Given the description of an element on the screen output the (x, y) to click on. 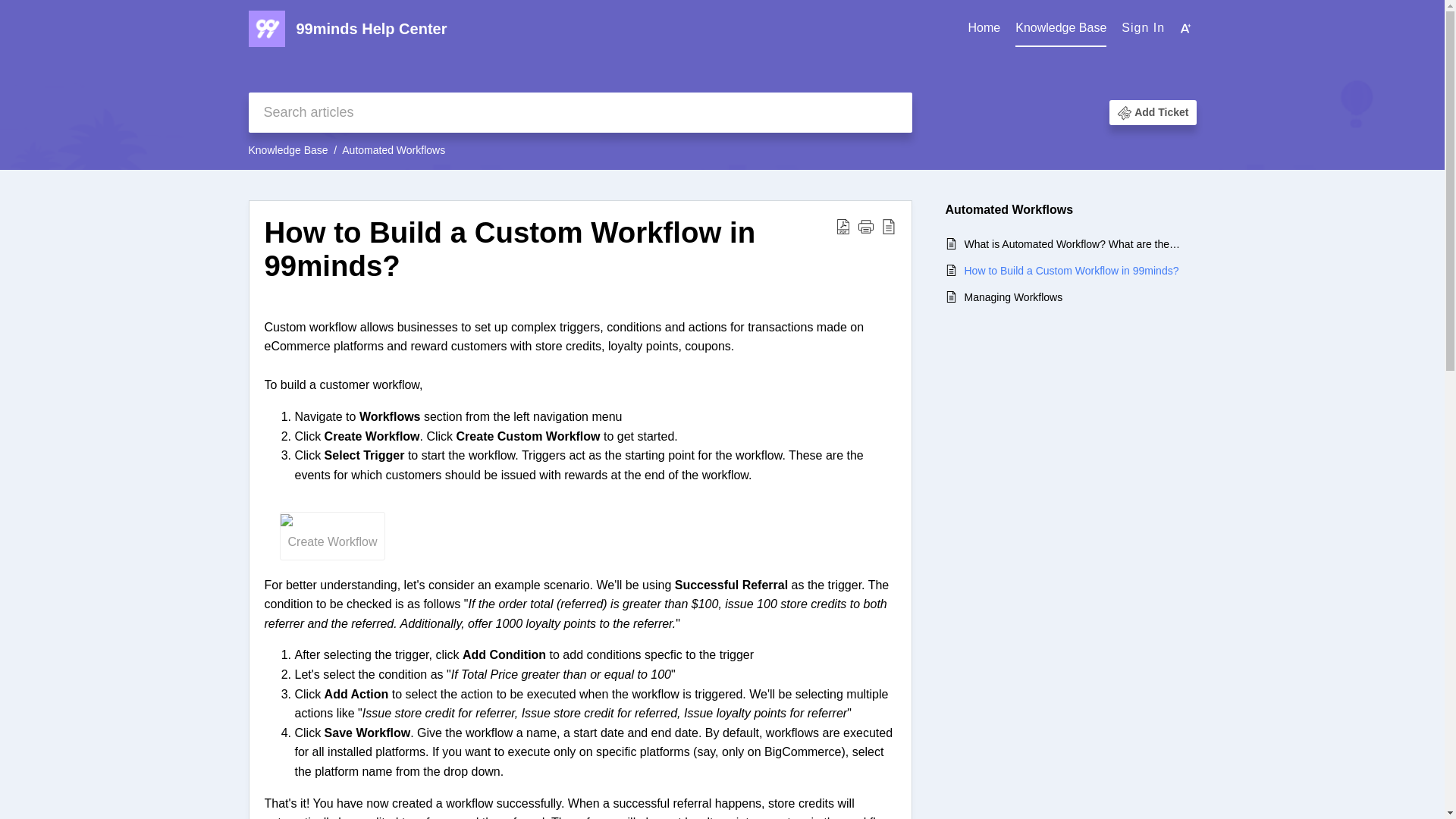
Knowledge Base (1060, 27)
Knowledge Base (1060, 28)
Home (984, 28)
99minds Help Center (627, 28)
Add Ticket (1152, 111)
Sign In (1142, 27)
Managing Workflows (1071, 297)
Add Ticket (1161, 112)
Automated Workflows (393, 150)
How to Build a Custom Workflow in 99minds? (1071, 270)
